Given the description of an element on the screen output the (x, y) to click on. 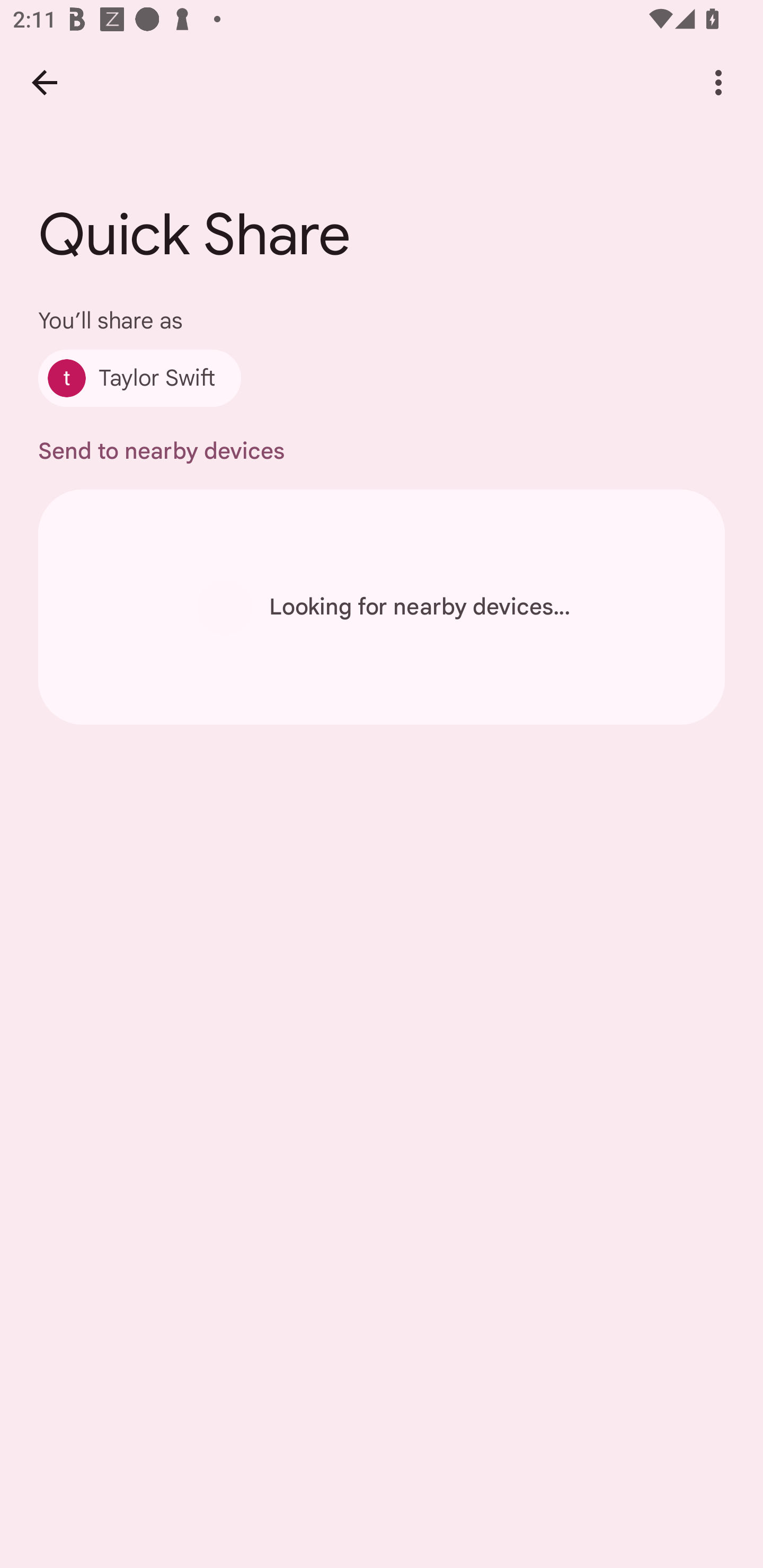
Back (44, 81)
More (718, 81)
Taylor Swift (139, 378)
